Given the description of an element on the screen output the (x, y) to click on. 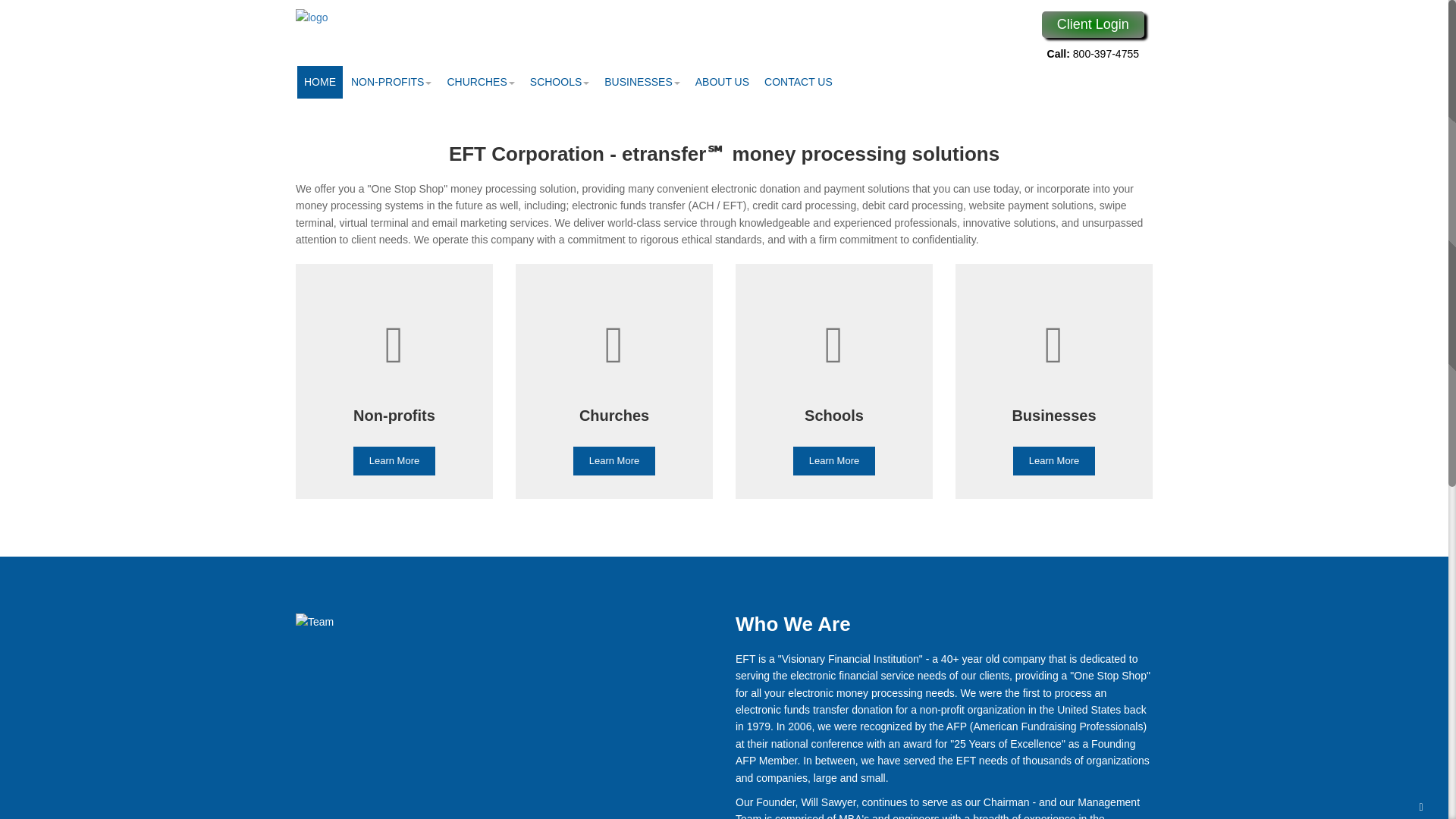
SCHOOLS (558, 82)
CHURCHES (480, 82)
CONTACT US (798, 82)
ABOUT US (721, 82)
Learn More (614, 460)
BUSINESSES (640, 82)
Learn More (1053, 460)
Learn More (394, 460)
Learn More (834, 460)
HOME (319, 82)
Client Login (1093, 28)
NON-PROFITS (390, 82)
